Given the description of an element on the screen output the (x, y) to click on. 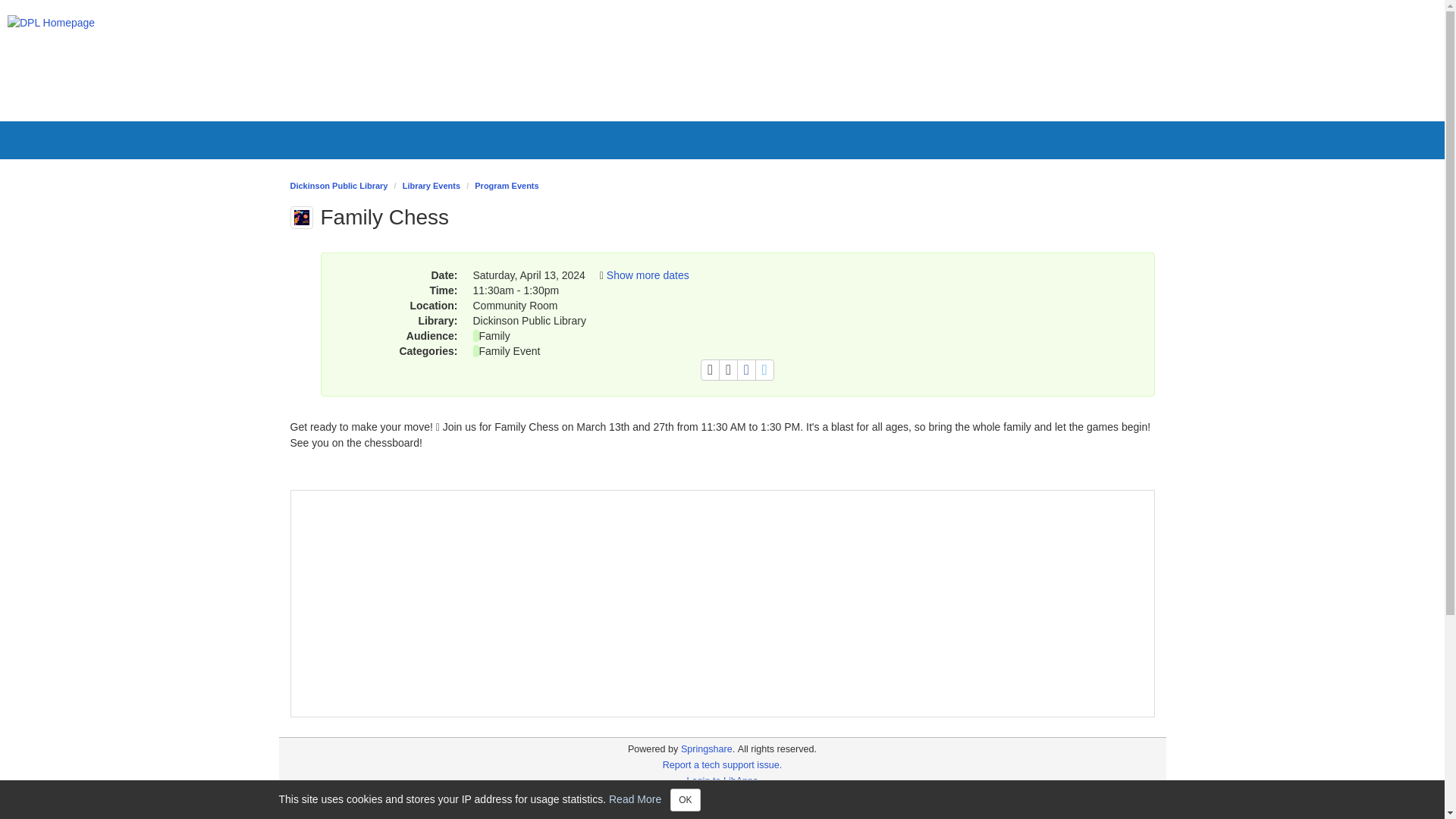
Family Event (509, 350)
Springshare (706, 748)
Share page on Twitter (764, 369)
Program Events (506, 185)
Print the page (709, 369)
Login to LibApps (722, 780)
Add to a Calendar using iCal (728, 369)
Read More (634, 798)
Library Events (431, 185)
Report a tech support issue. (722, 765)
Family (495, 336)
Show more dates (647, 275)
OK (684, 799)
Dickinson Public Library (338, 185)
